Given the description of an element on the screen output the (x, y) to click on. 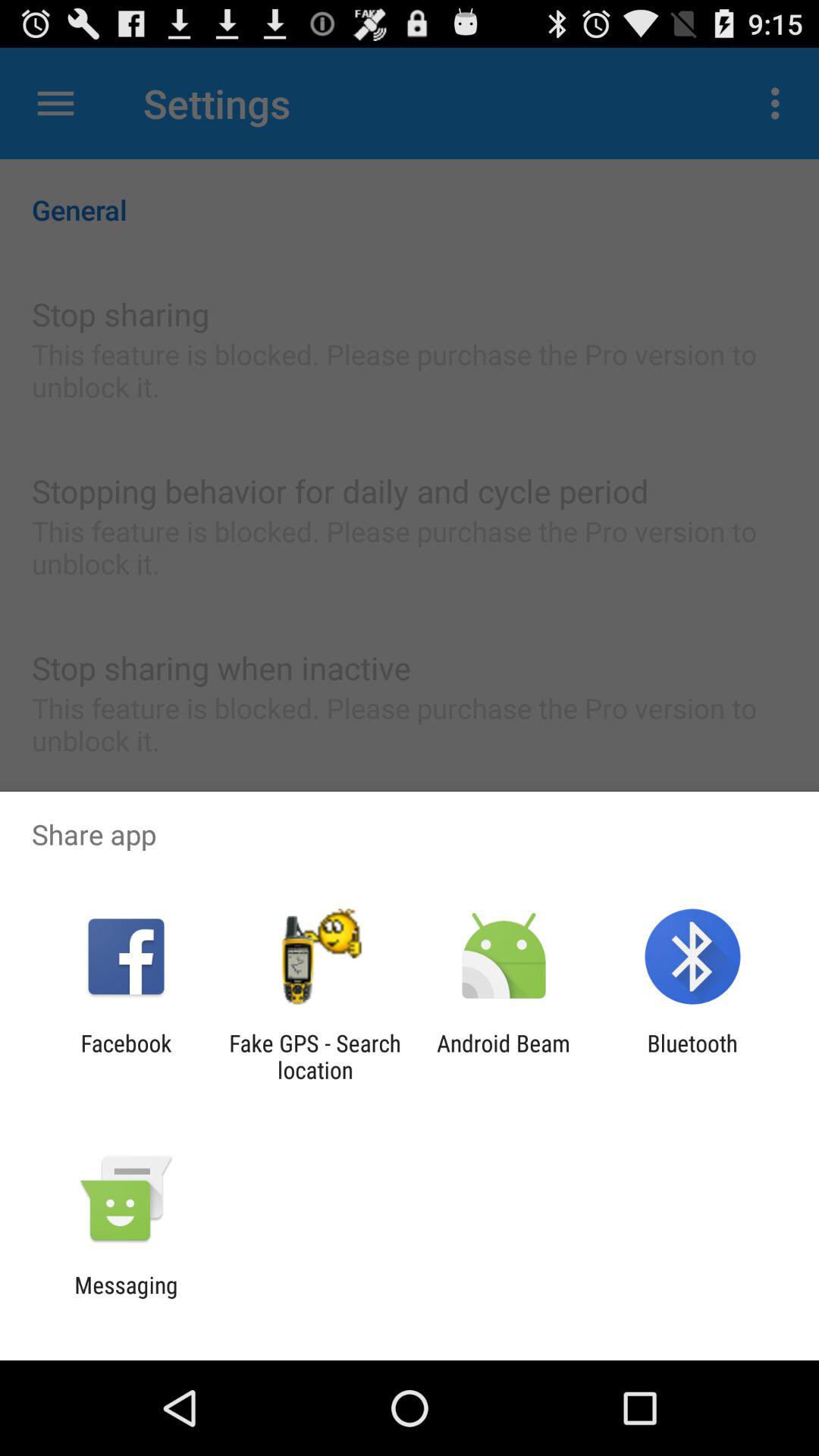
choose the messaging (126, 1298)
